Given the description of an element on the screen output the (x, y) to click on. 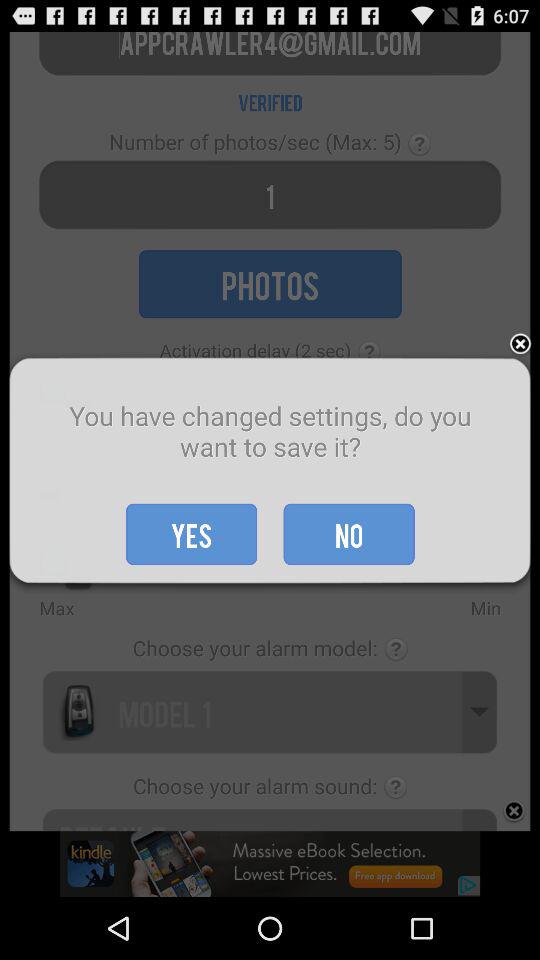
tap app below you have changed app (191, 534)
